Given the description of an element on the screen output the (x, y) to click on. 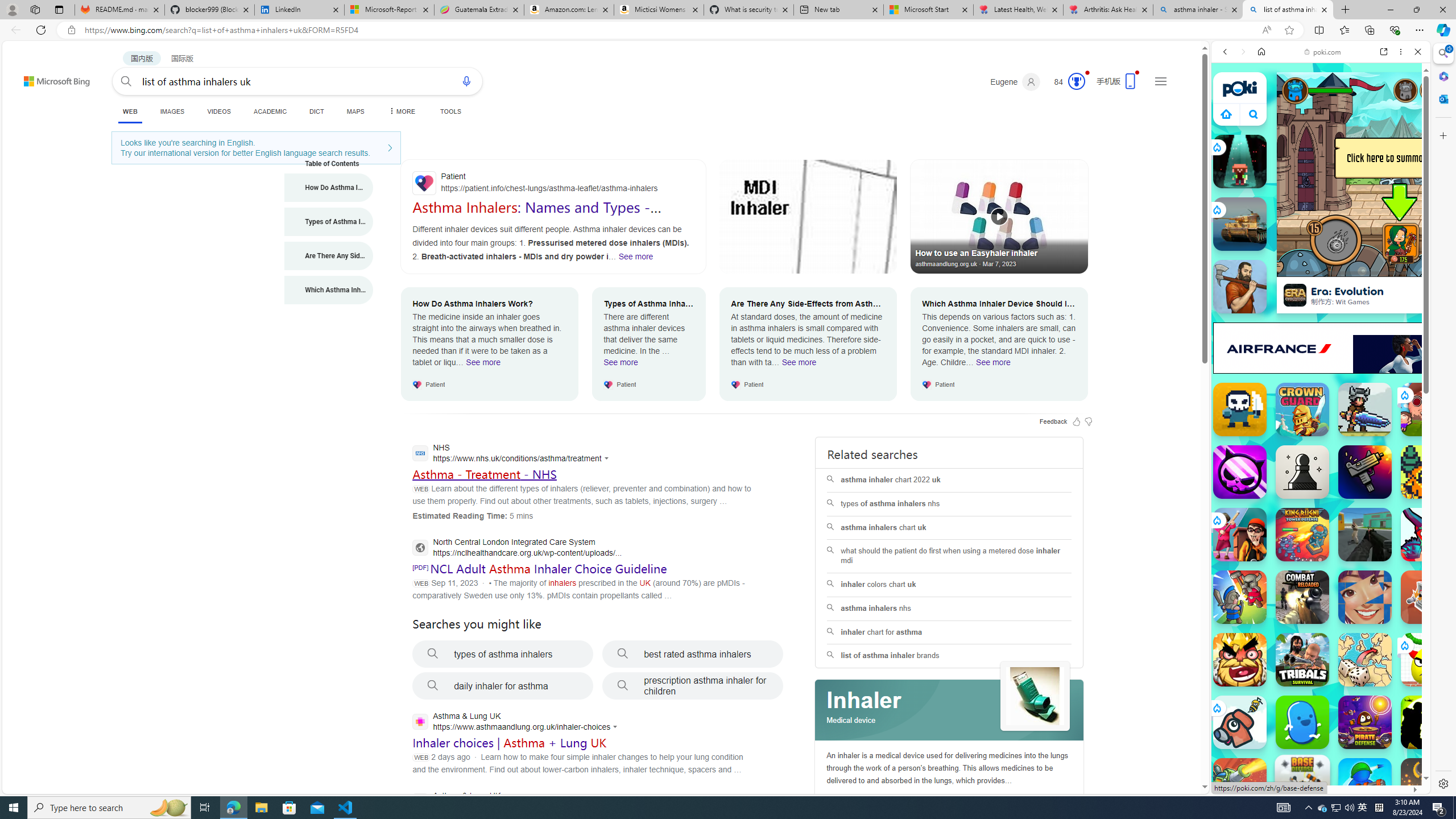
See more images of Inhaler (1035, 696)
Dropdown Menu (400, 111)
SUBWAY SURFERS - Play Online for Free! | Poki (1315, 765)
Shooting Games (1320, 295)
Crown Guard (1302, 409)
War Master (1364, 784)
DICT (316, 111)
types of asthma inhalers nhs (949, 504)
Types of Asthma Inhalers (328, 221)
Asthma - Treatment - NHS (484, 473)
WEB (129, 111)
